Given the description of an element on the screen output the (x, y) to click on. 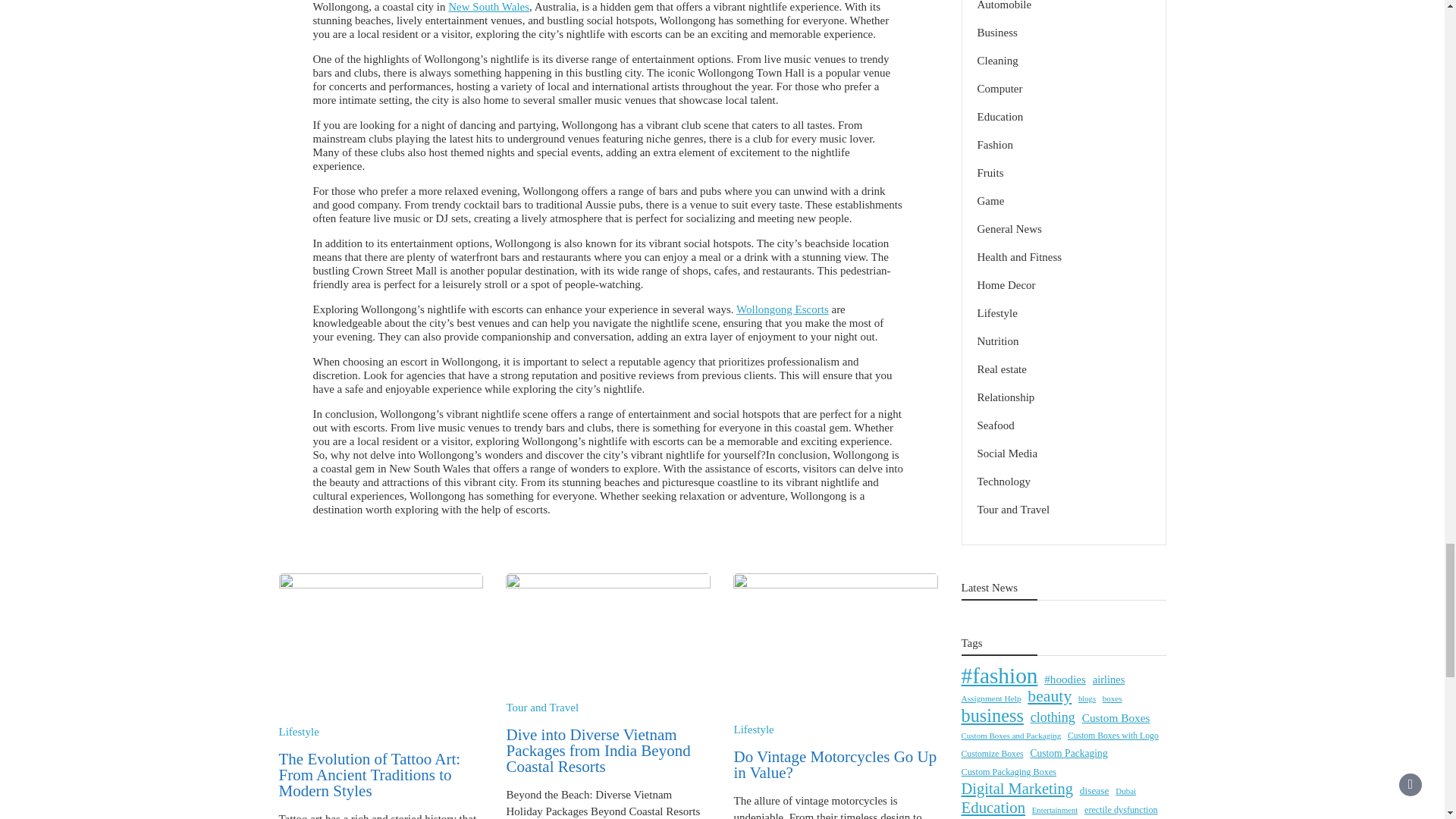
Do Vintage Motorcycles Go Up in Value? (834, 764)
Tour and Travel (541, 707)
New South Wales (488, 6)
Lifestyle (298, 731)
Lifestyle (753, 729)
Wollongong Escorts (782, 309)
